Given the description of an element on the screen output the (x, y) to click on. 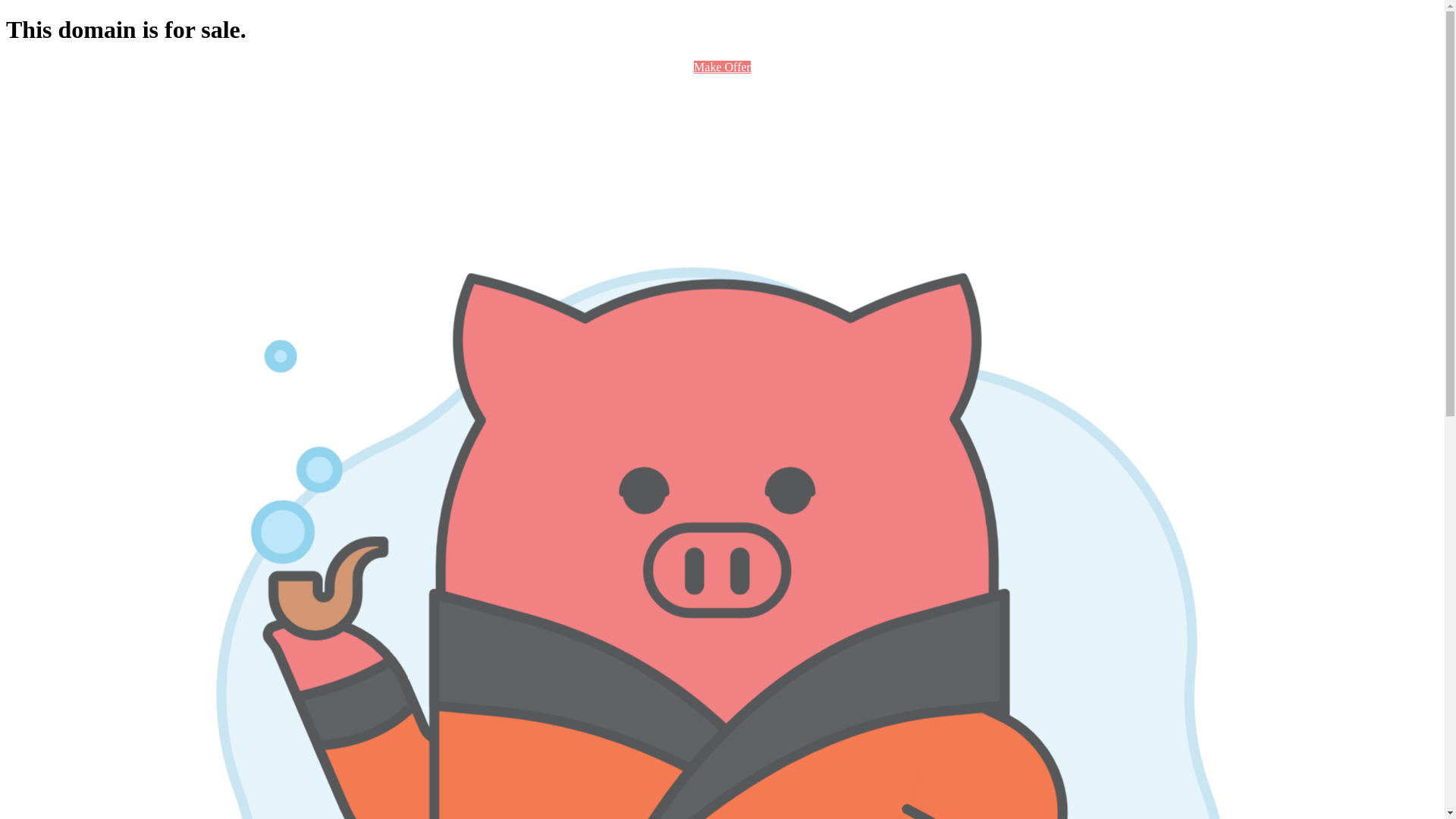
Make Offer (722, 66)
